Given the description of an element on the screen output the (x, y) to click on. 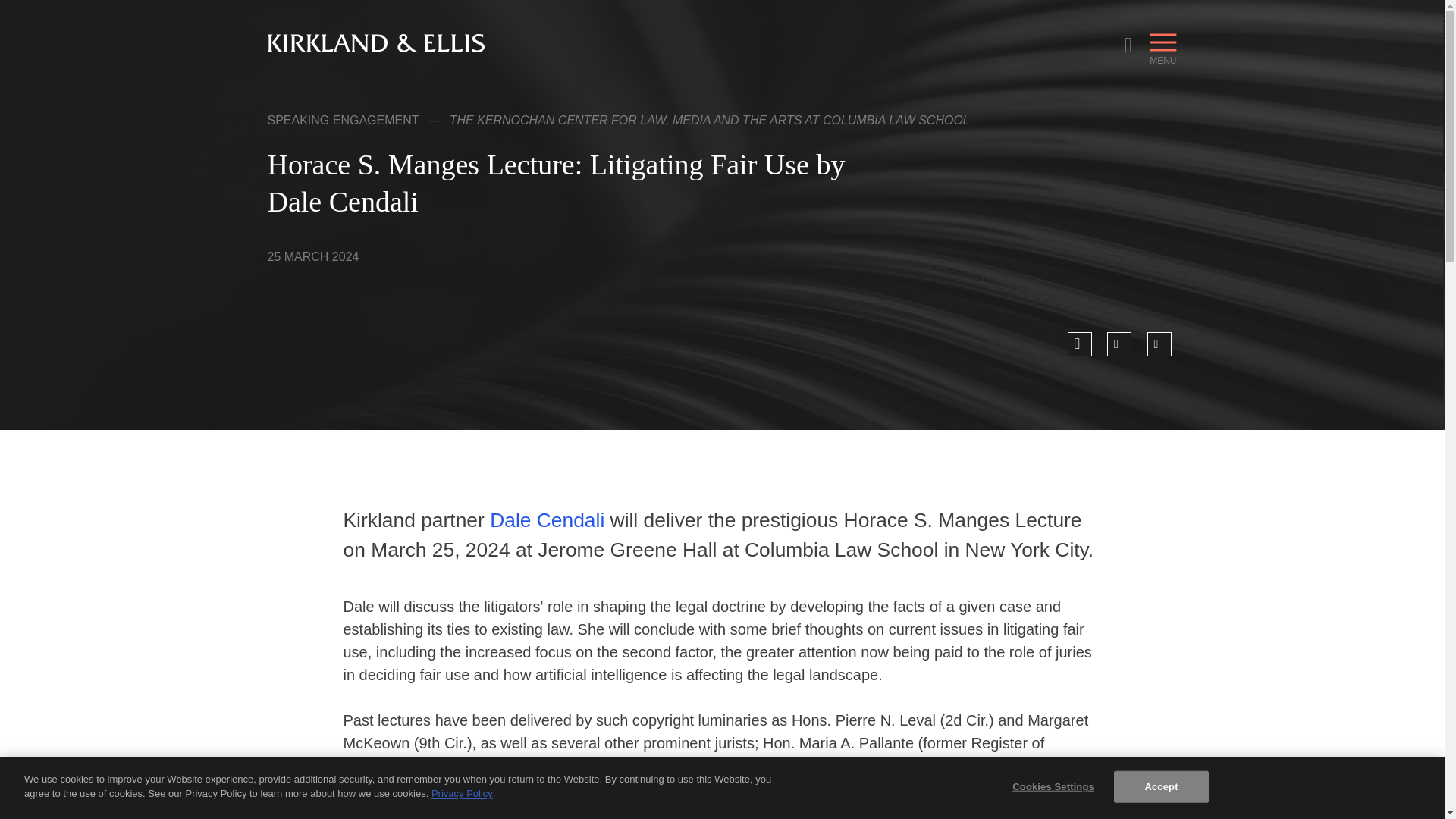
Twitter (1158, 344)
MENU (1162, 45)
here (904, 811)
Email (1079, 344)
Dale Cendali (549, 519)
LinkedIn (1118, 344)
